Given the description of an element on the screen output the (x, y) to click on. 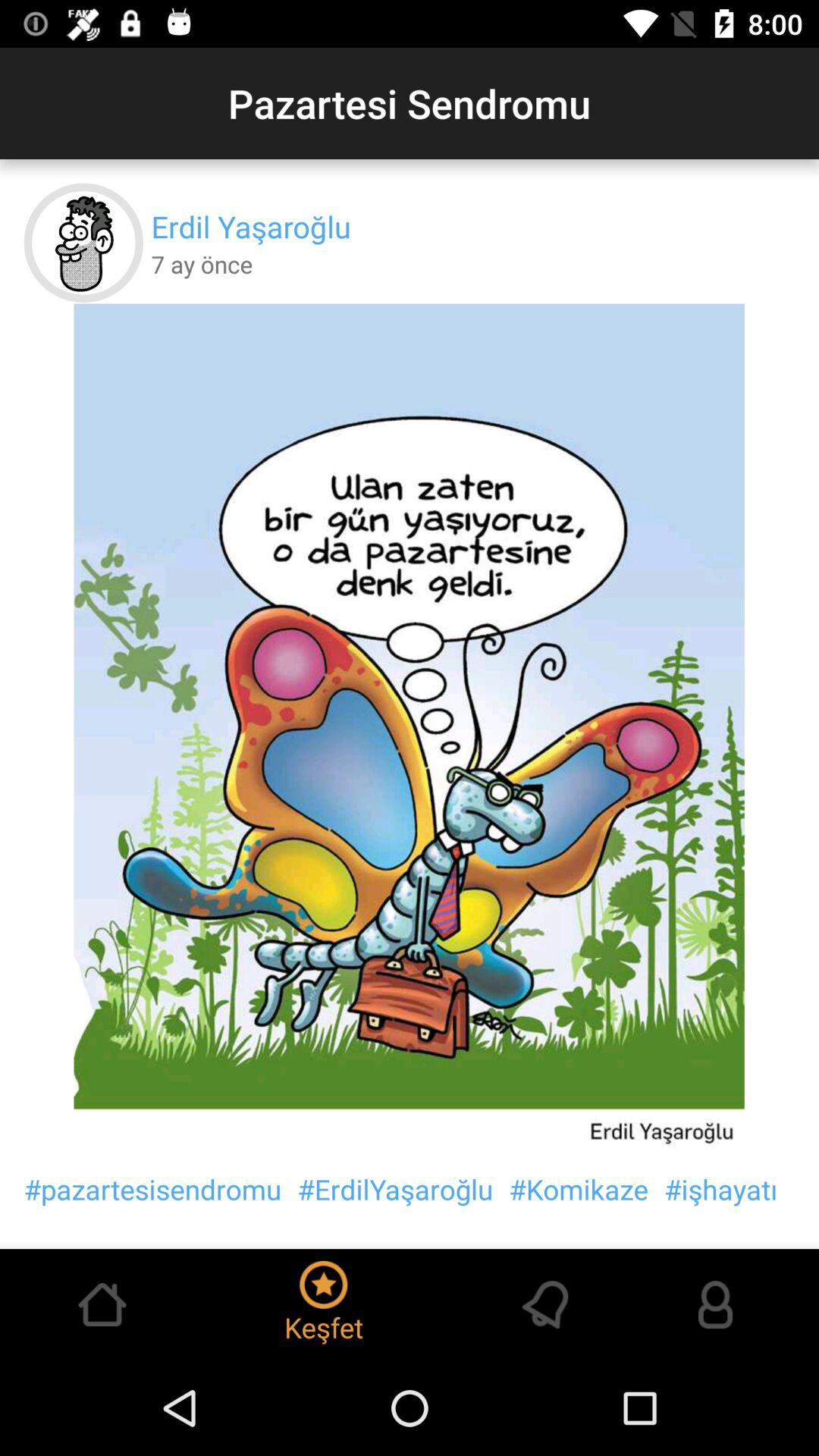
choose the icon next to #pazartesisendromu icon (395, 1189)
